Given the description of an element on the screen output the (x, y) to click on. 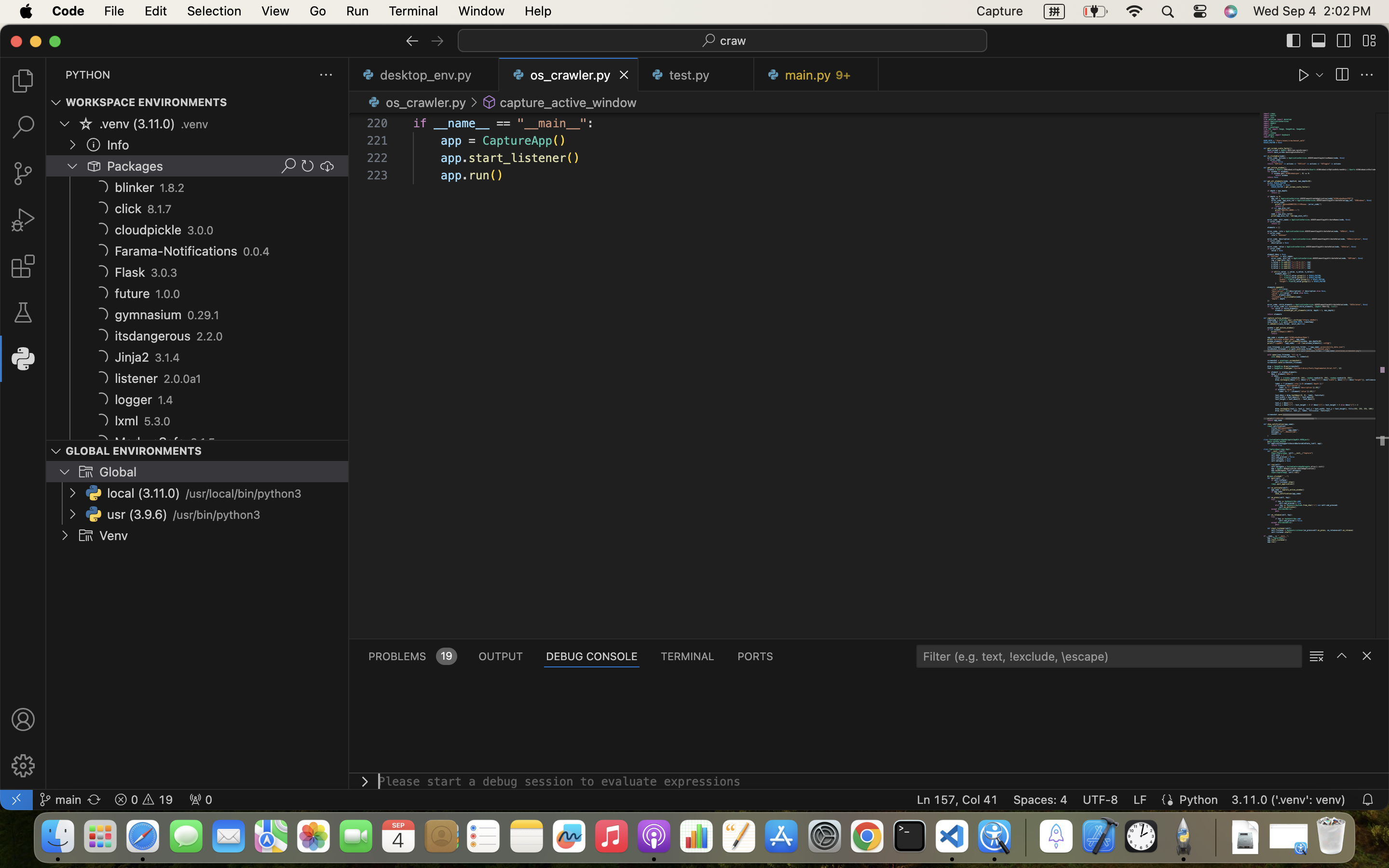
3.0.0 Element type: AXStaticText (200, 230)
1 Element type: AXRadioButton (23, 358)
.venv Element type: AXStaticText (194, 124)
1 os_crawler.py   Element type: AXRadioButton (568, 74)
0 main.py   9+ Element type: AXRadioButton (816, 74)
